Given the description of an element on the screen output the (x, y) to click on. 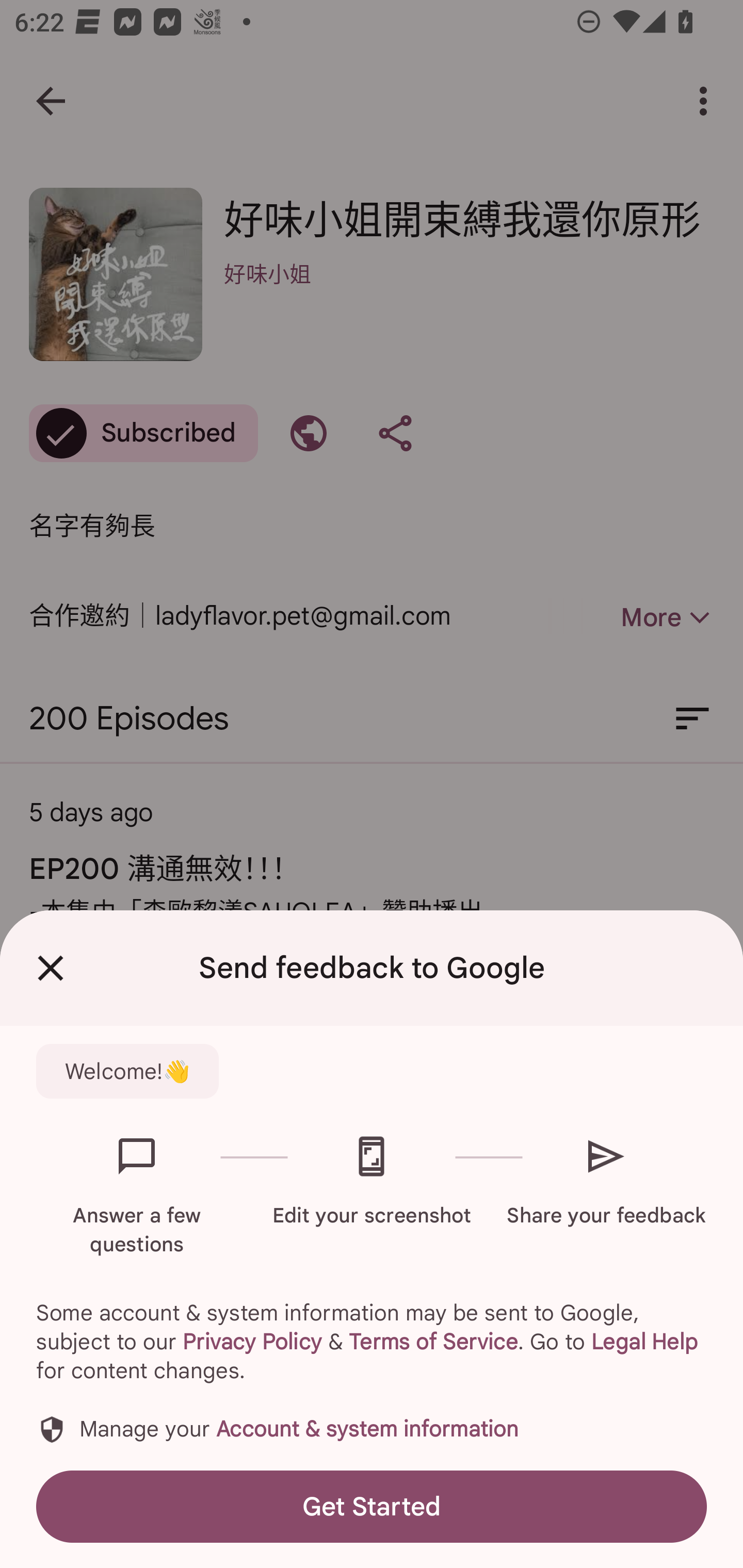
Close Feedback (50, 968)
Get Started (371, 1505)
